Given the description of an element on the screen output the (x, y) to click on. 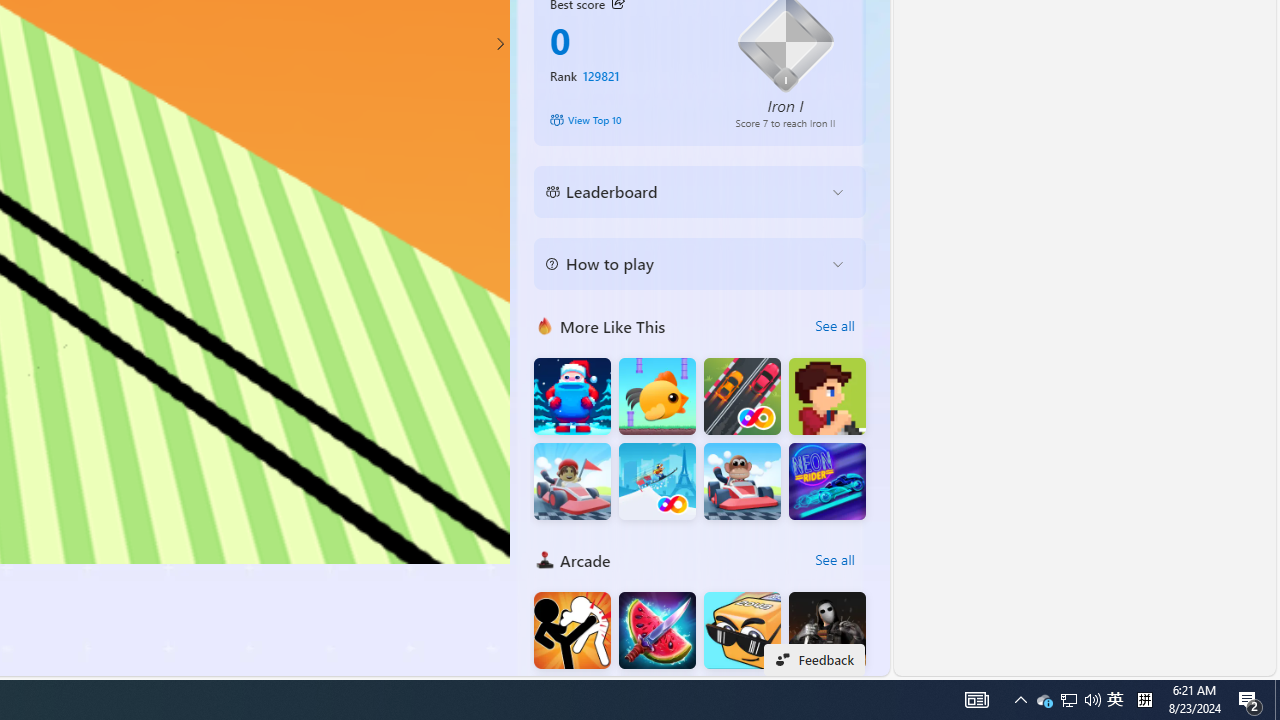
Idle Lawnmower (827, 396)
See all (834, 560)
Drag Race FRVR (742, 396)
Touch And Catch Santa (571, 396)
Kart Racing Pro (571, 481)
Ski Jump FRVR (657, 481)
Class: control (499, 43)
